Given the description of an element on the screen output the (x, y) to click on. 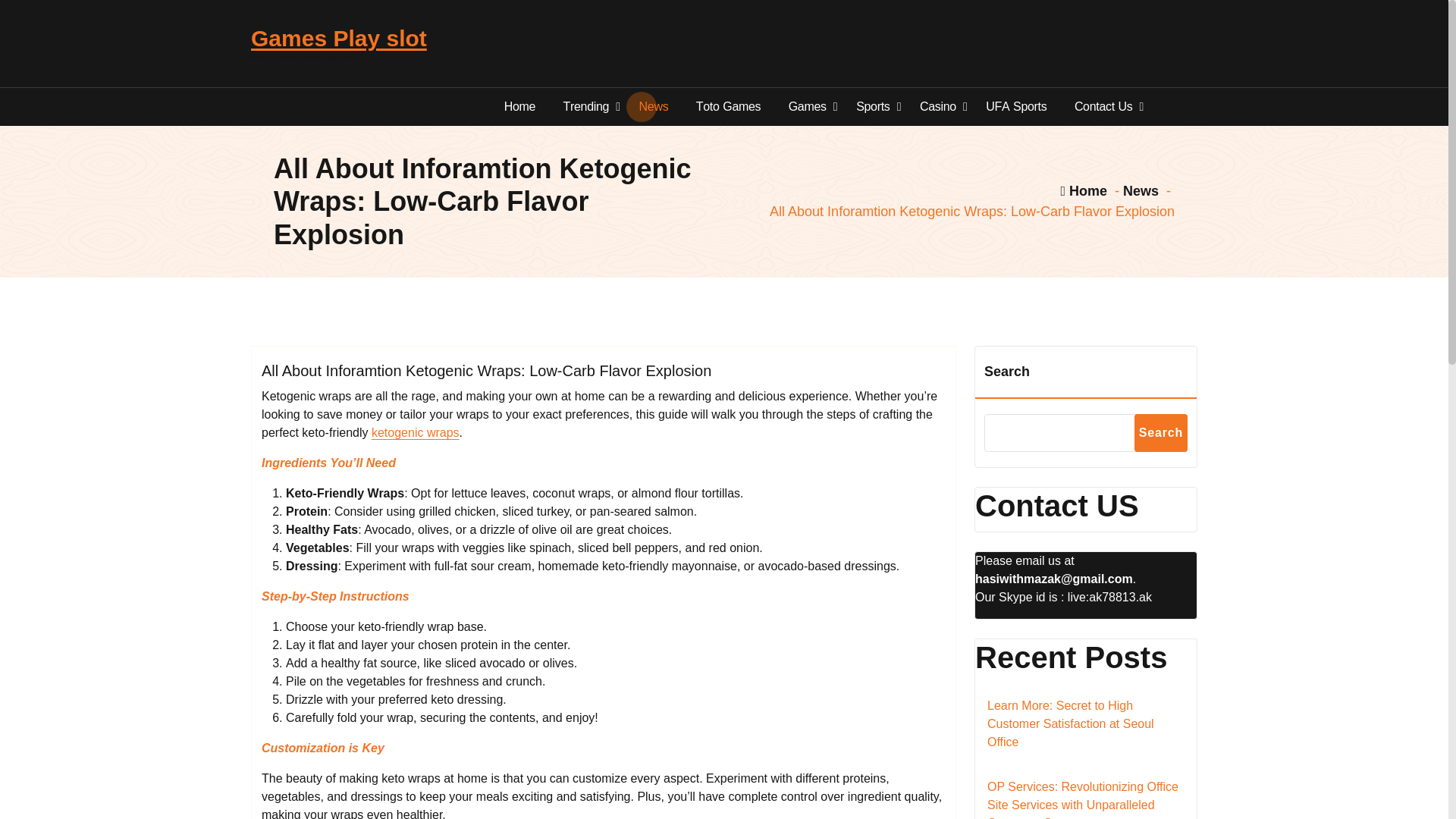
Trending (587, 106)
Games Play slot (338, 38)
Home (520, 106)
